Given the description of an element on the screen output the (x, y) to click on. 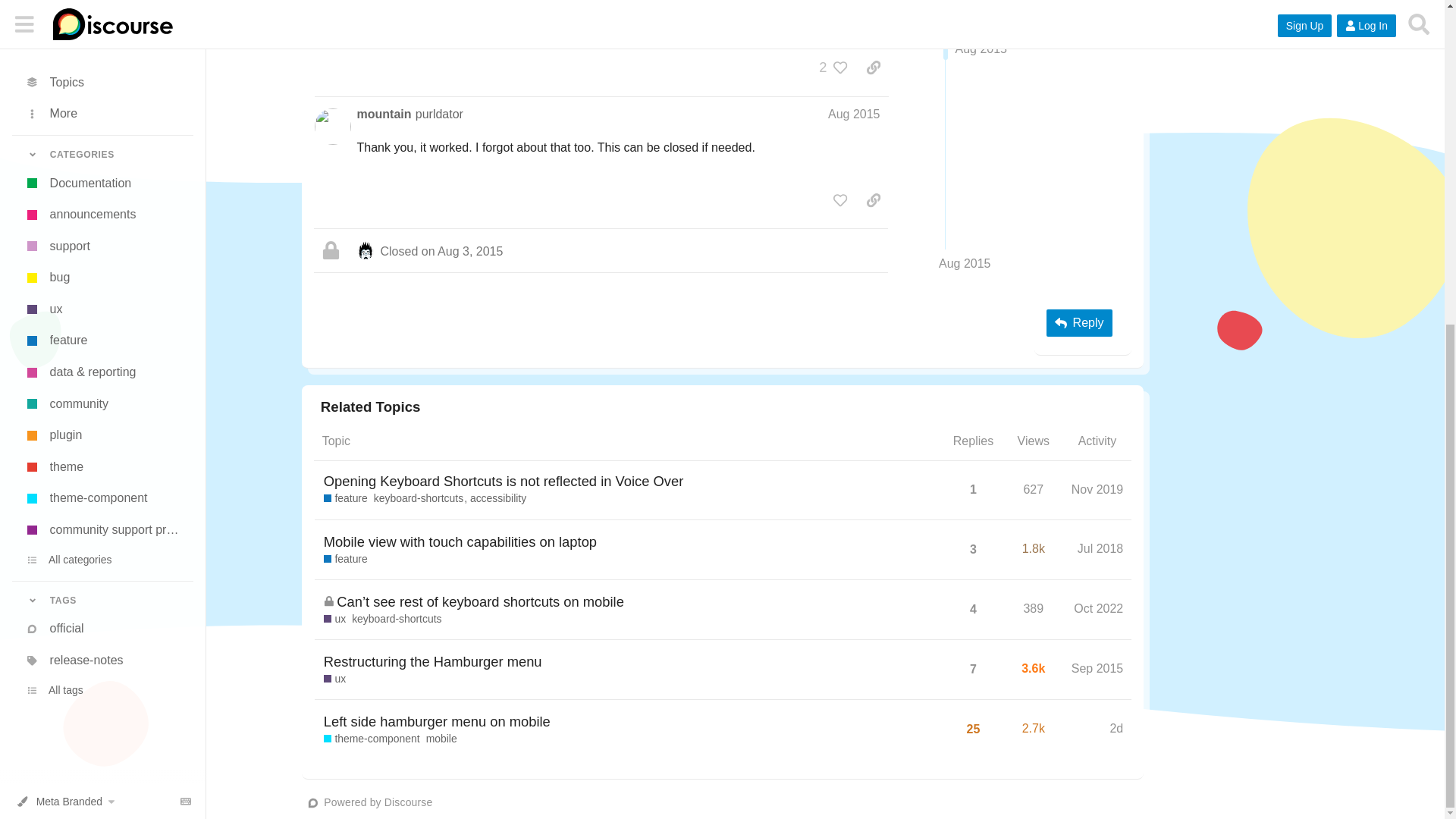
community support program (102, 7)
official (102, 97)
All tags (102, 158)
All categories (102, 28)
TAGS (102, 68)
release-notes (102, 128)
